Given the description of an element on the screen output the (x, y) to click on. 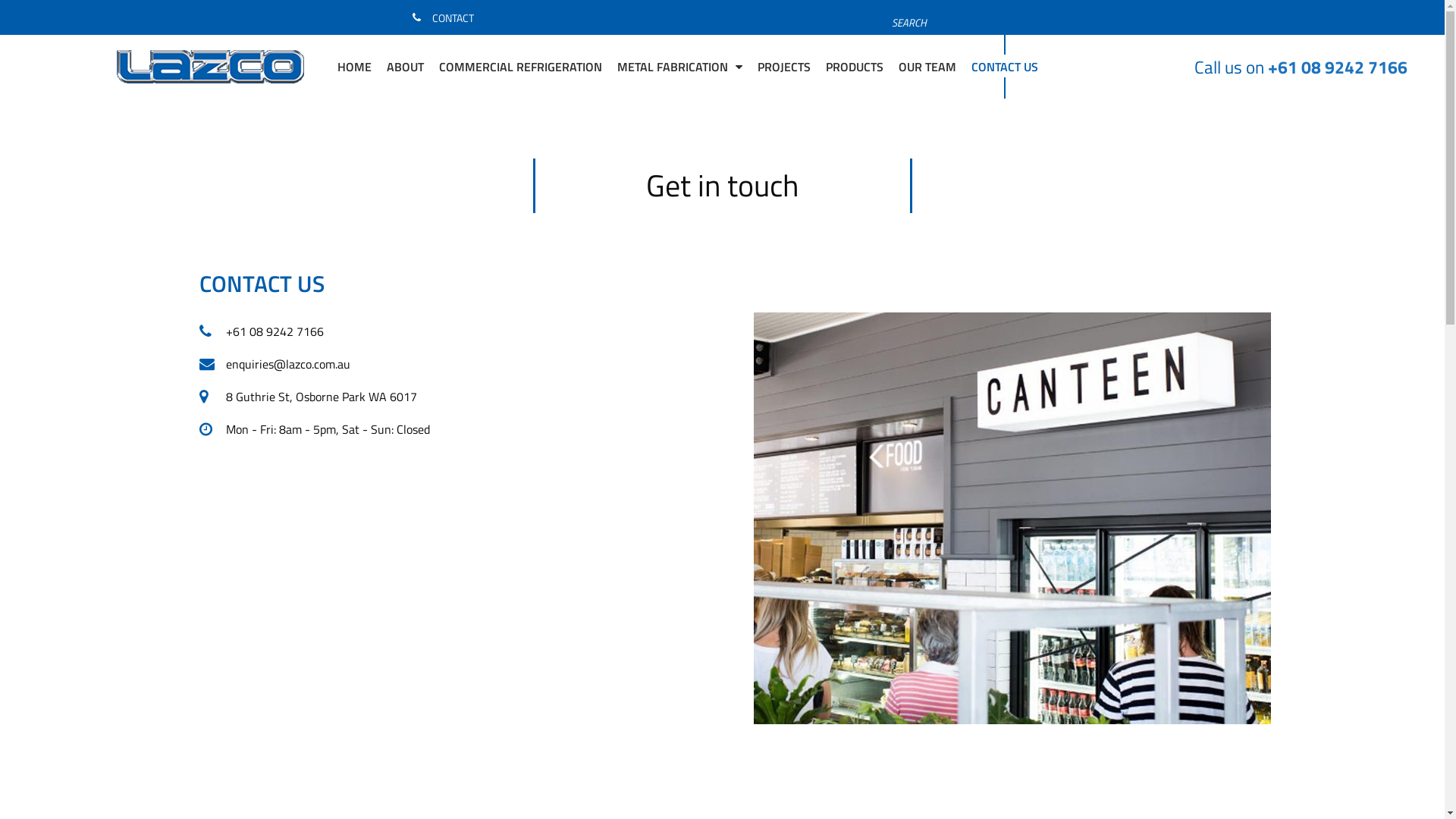
PROJECTS Element type: text (783, 66)
HOME Element type: text (354, 66)
PRODUCTS Element type: text (854, 66)
enquiries@lazco.com.au Element type: text (394, 363)
8 Guthrie St, Osborne Park WA 6017 Element type: text (394, 396)
ABOUT Element type: text (405, 66)
+61 08 9242 7166 Element type: text (1337, 66)
CONTACT US Element type: text (1004, 66)
OUR TEAM Element type: text (927, 66)
CONTACT Element type: text (440, 17)
COMMERCIAL REFRIGERATION Element type: text (520, 66)
+61 08 9242 7166 Element type: text (394, 331)
METAL FABRICATION Element type: text (679, 66)
